Given the description of an element on the screen output the (x, y) to click on. 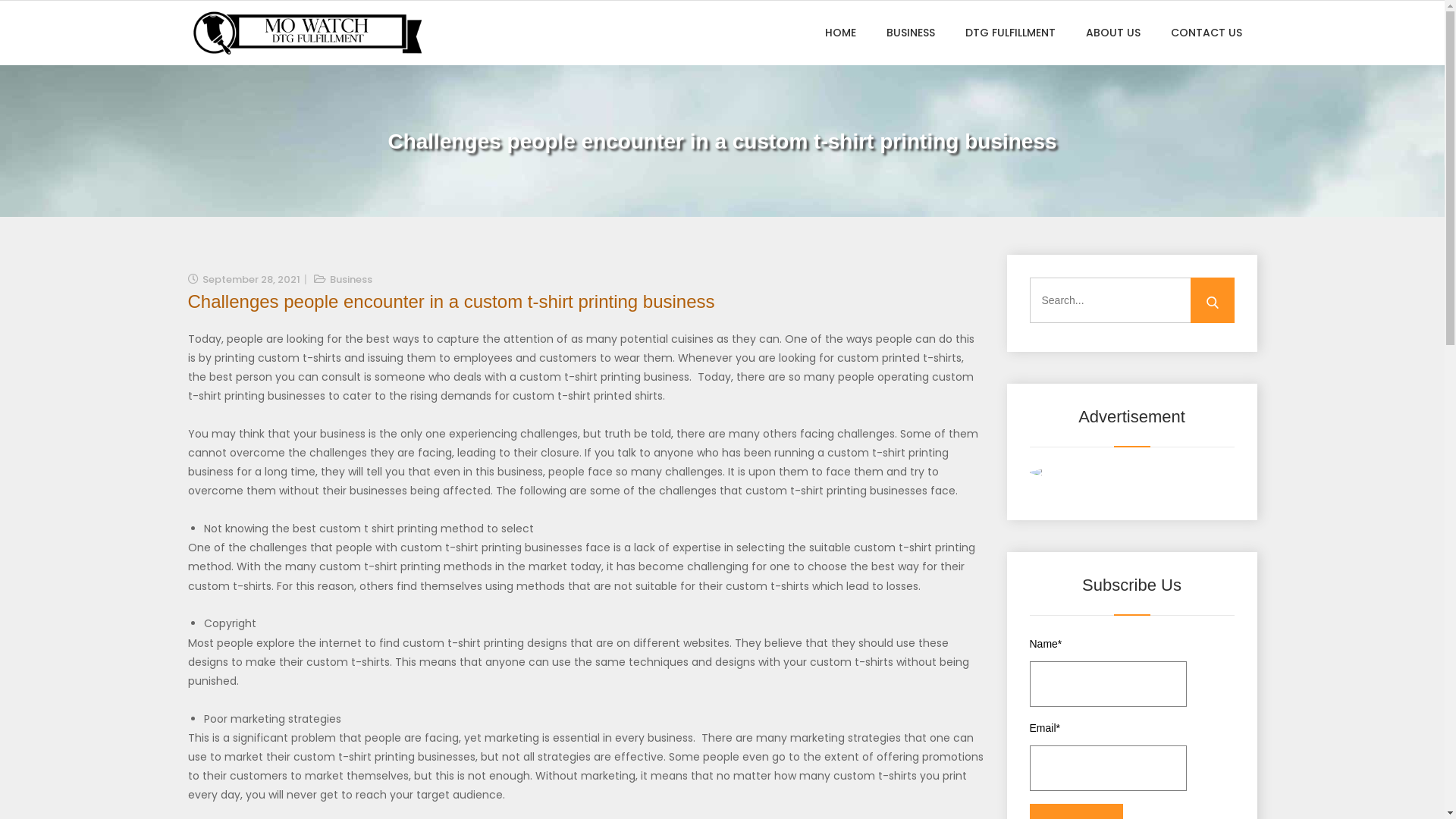
ABOUT US Element type: text (1112, 32)
DTG FULFILLMENT Element type: text (1009, 32)
CONTACT US Element type: text (1206, 32)
MO Watch Element type: text (237, 72)
Business Element type: text (350, 279)
BUSINESS Element type: text (909, 32)
HOME Element type: text (840, 32)
September 28, 2021 Element type: text (250, 279)
